Given the description of an element on the screen output the (x, y) to click on. 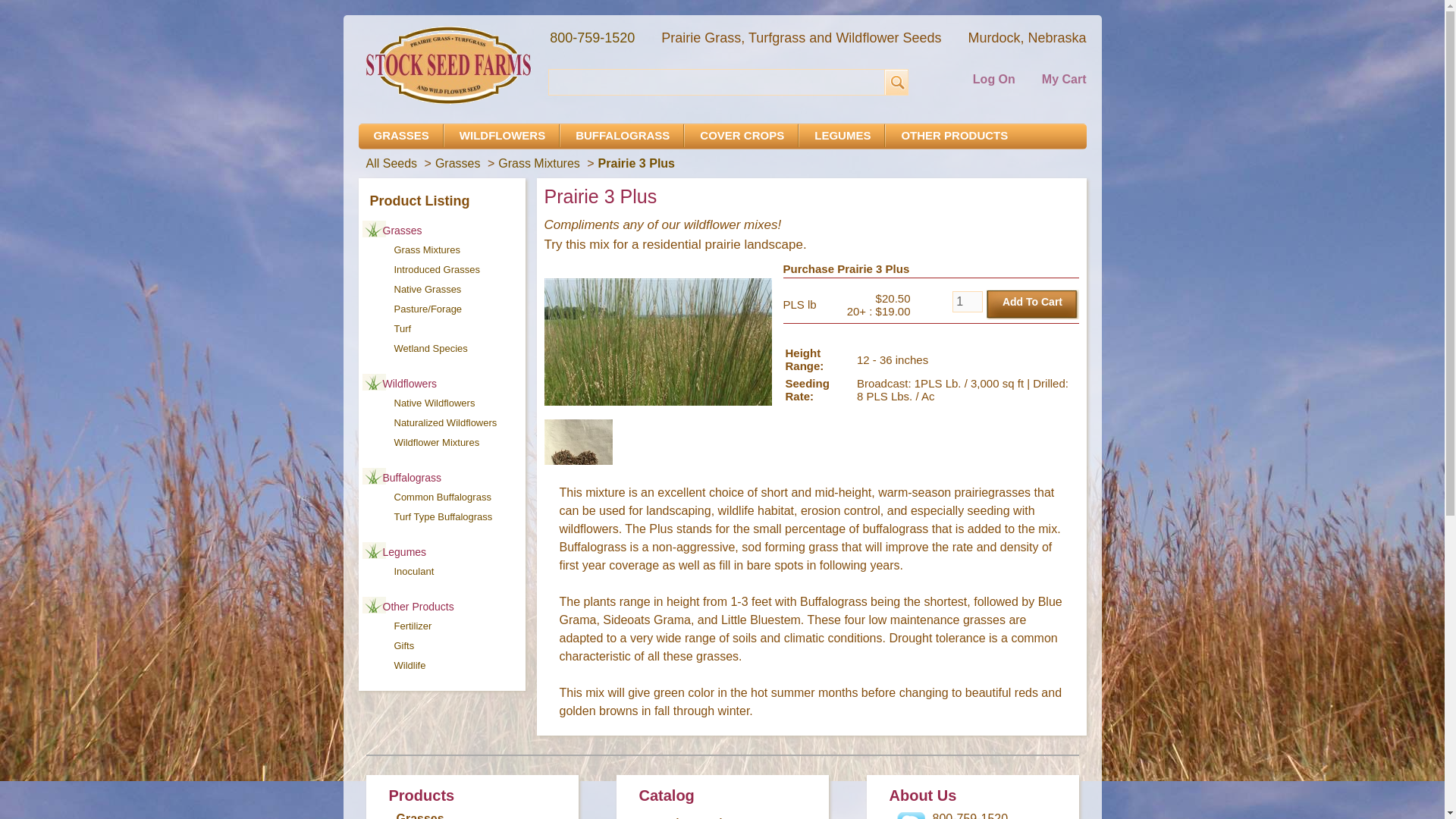
Turf Type Buffalograss (443, 516)
Common Buffalograss (443, 496)
1 (967, 301)
Legumes (403, 551)
Naturalized Wildflowers (445, 422)
Grasses (459, 163)
800-759-1520 (592, 37)
OTHER PRODUCTS (954, 135)
Native Grasses (427, 288)
Grasses (401, 230)
